Given the description of an element on the screen output the (x, y) to click on. 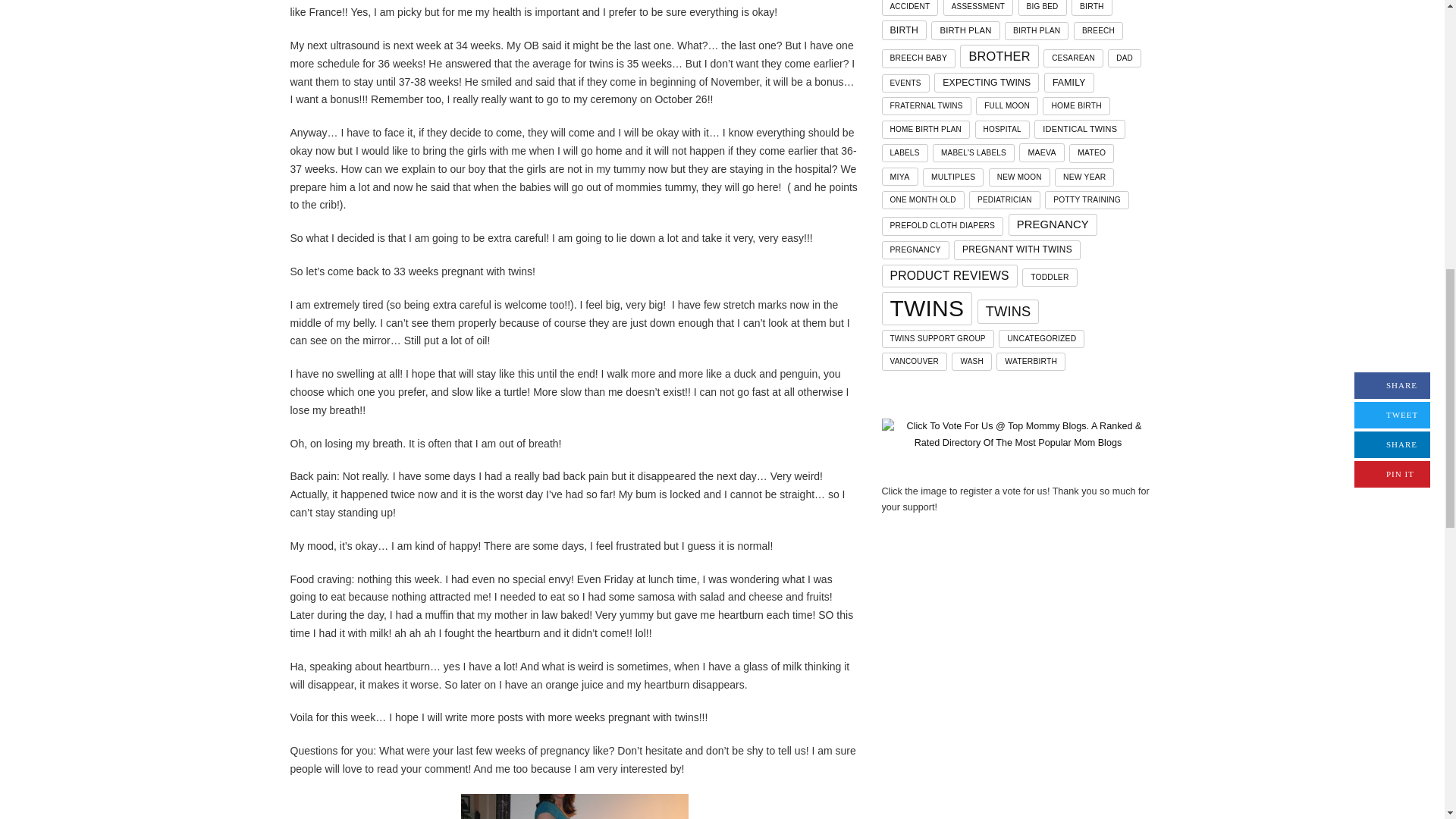
8 topics (903, 30)
2 topics (917, 58)
1 topic (908, 7)
1 topic (1042, 7)
2 topics (1091, 7)
1 topic (978, 7)
1 topic (1098, 31)
5 topics (964, 30)
2 topics (1036, 31)
